Given the description of an element on the screen output the (x, y) to click on. 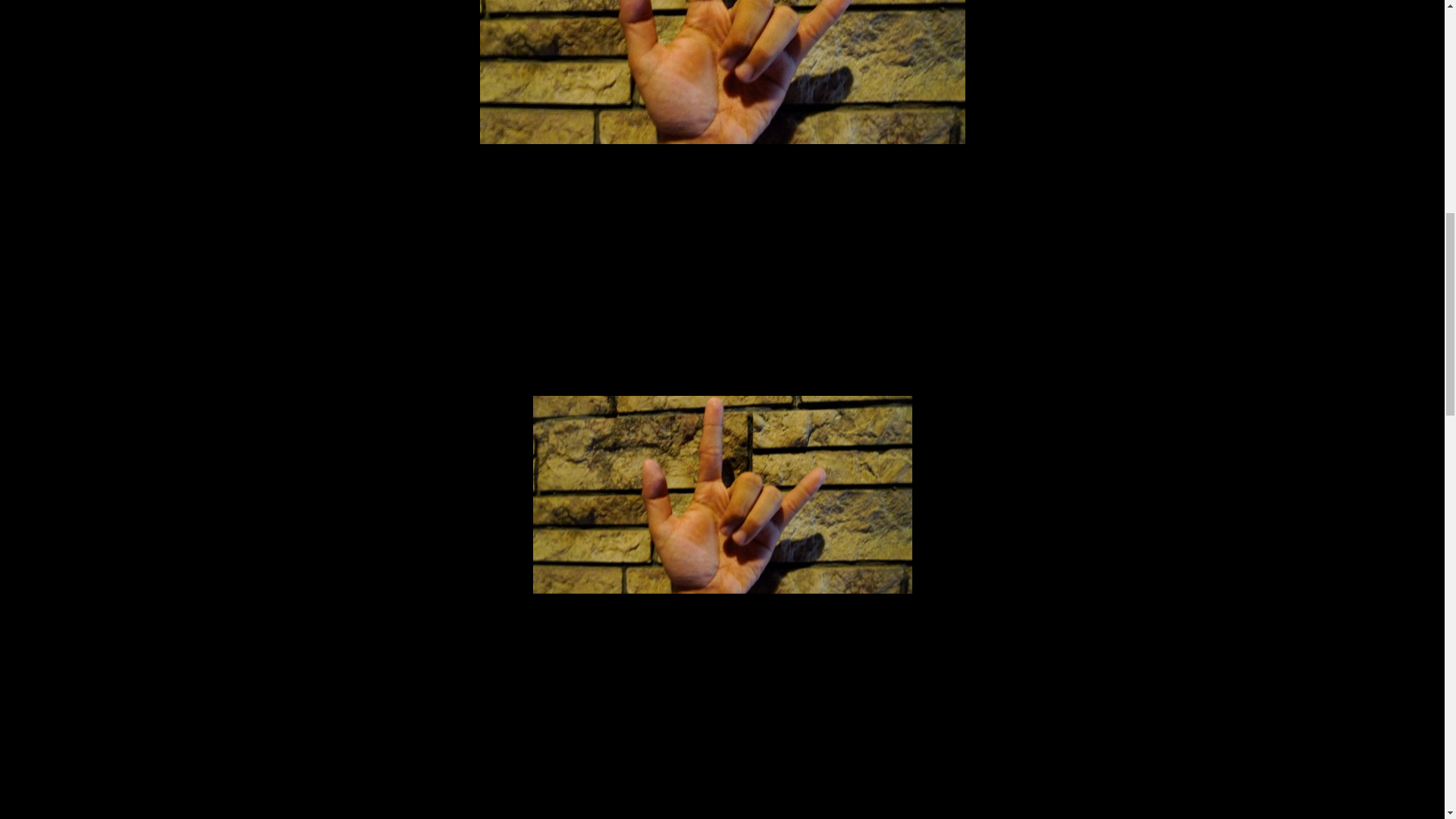
P1060143-1 (721, 502)
